Given the description of an element on the screen output the (x, y) to click on. 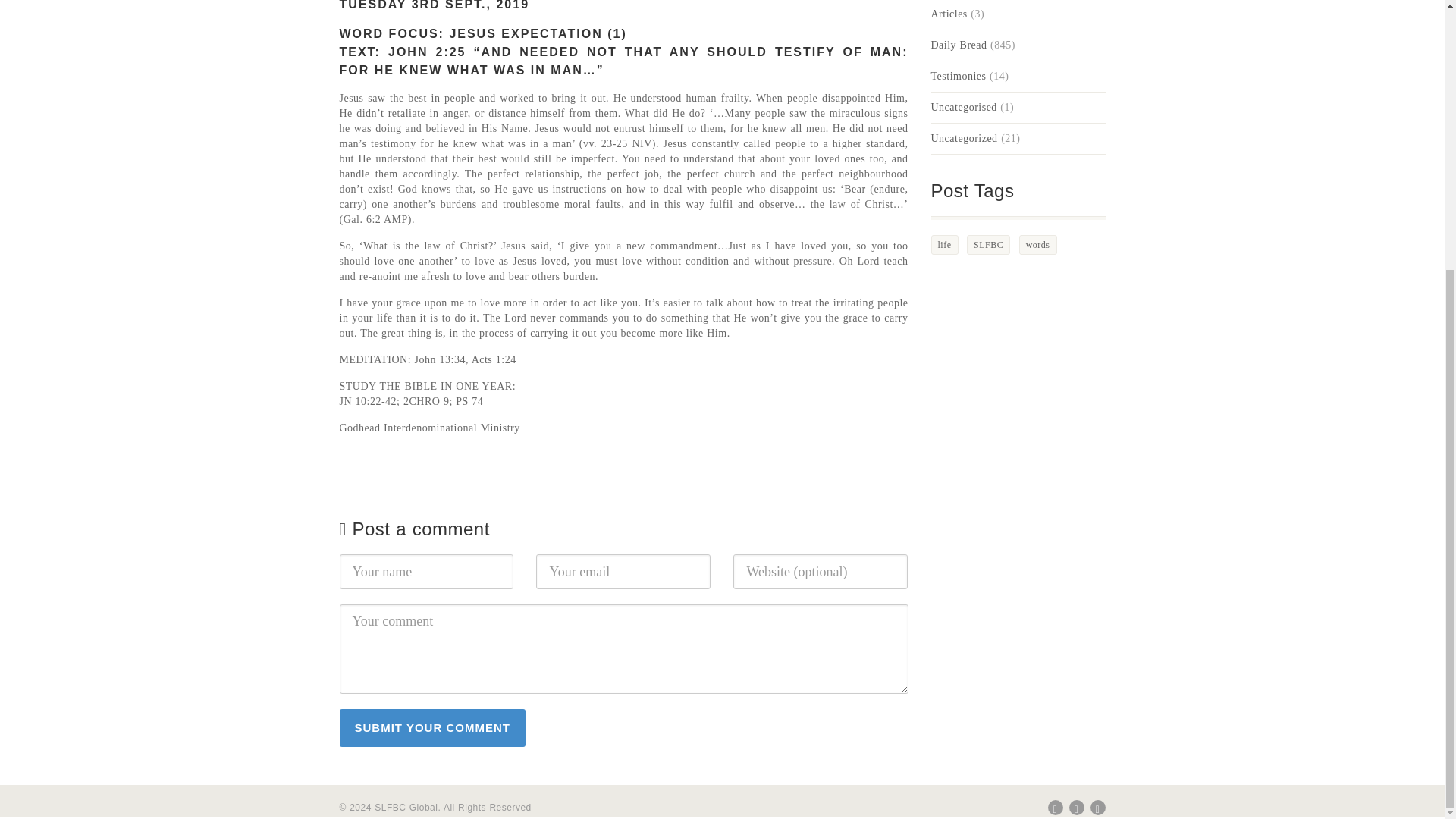
Submit your comment (432, 727)
Articles (949, 14)
Submit your comment (432, 727)
Daily Bread (959, 45)
